Given the description of an element on the screen output the (x, y) to click on. 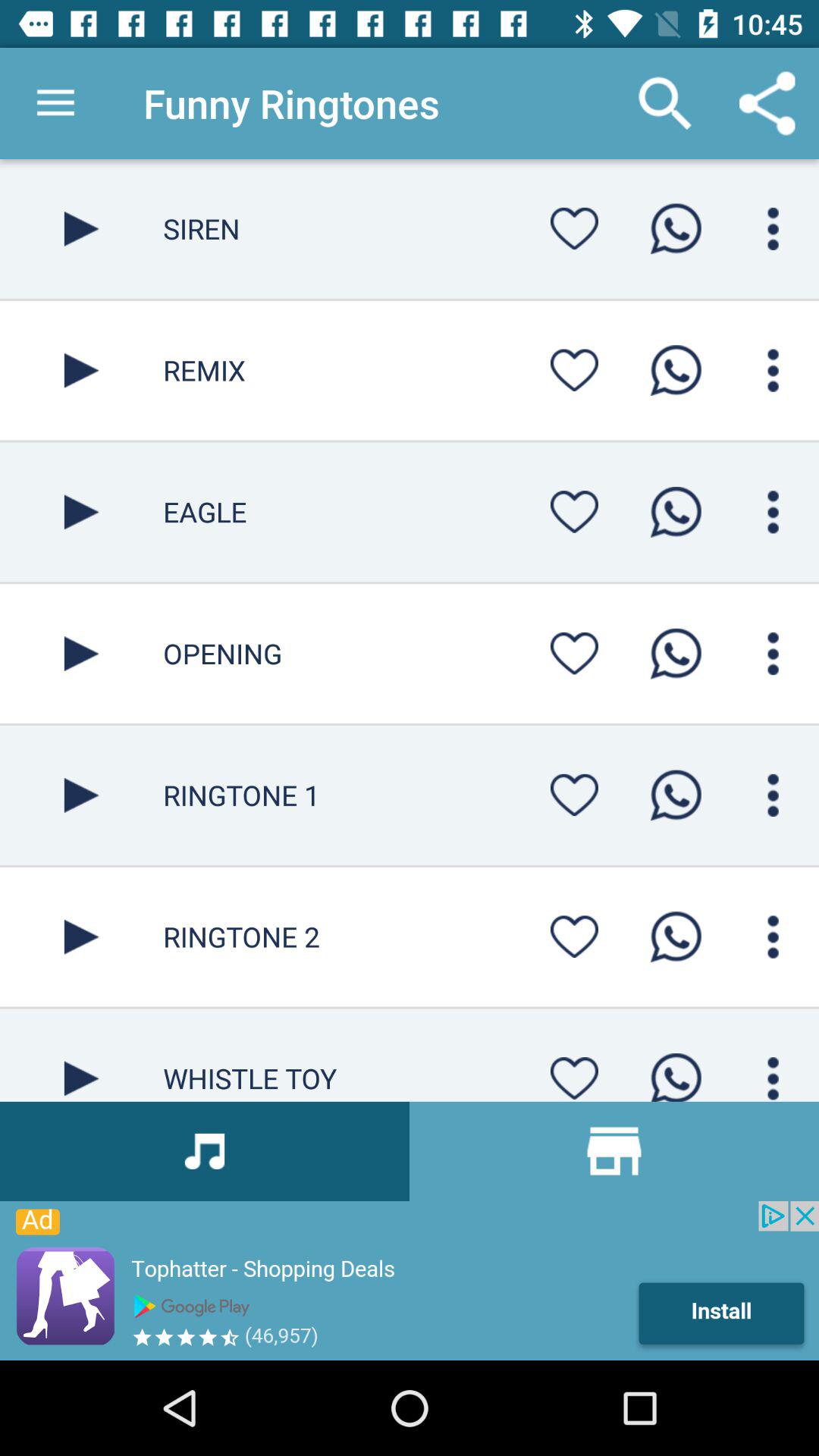
menu page (773, 794)
